Given the description of an element on the screen output the (x, y) to click on. 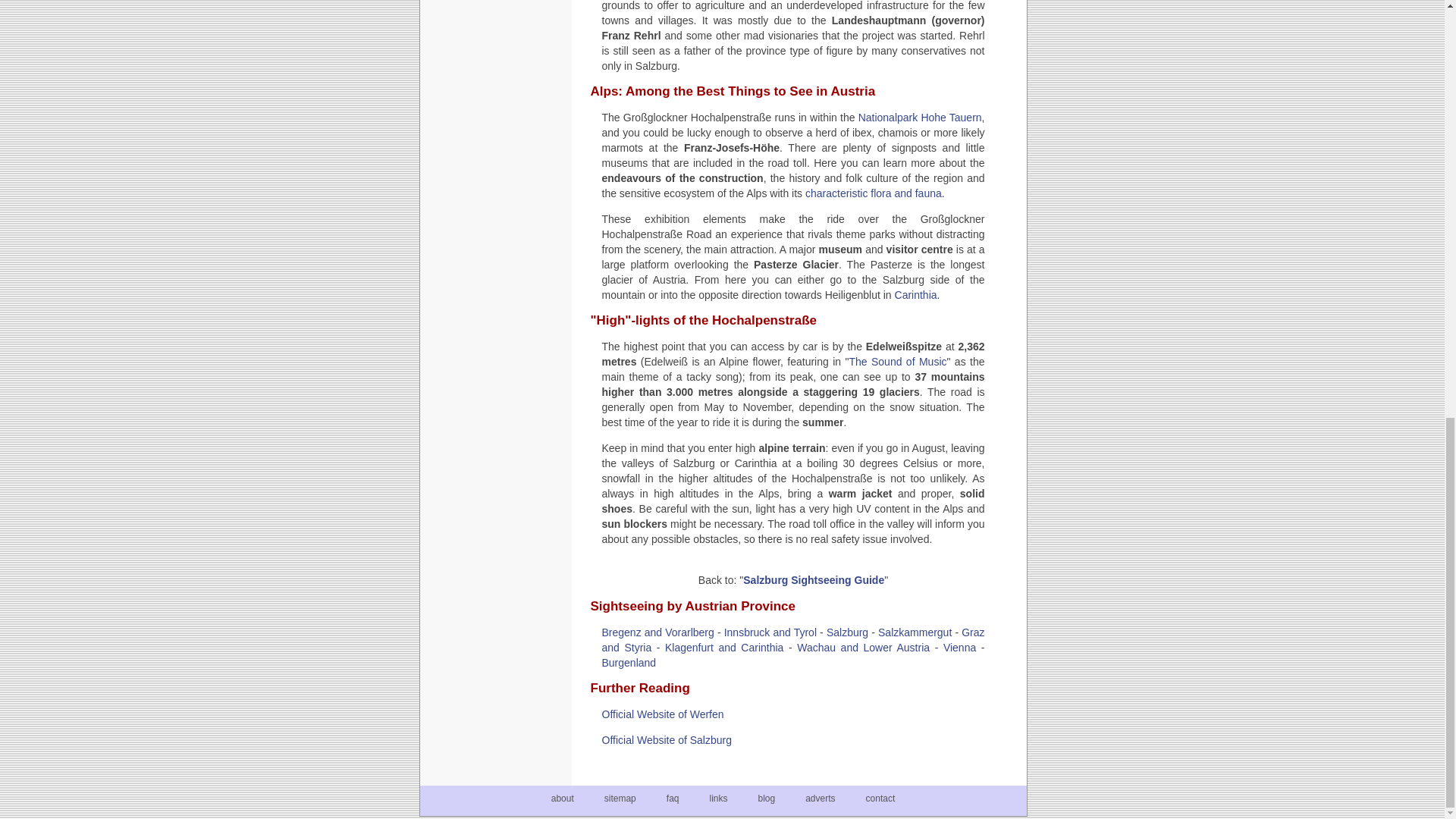
Innsbruck and Tyrol (769, 632)
Salzburg Sightseeing Guide (812, 580)
Salzburg (847, 632)
Nationalpark Hohe Tauern (920, 117)
Carinthia (916, 295)
The Sound of Music (897, 361)
Klagenfurt and Carinthia (724, 647)
Vienna (959, 647)
Bregenz and Vorarlberg (658, 632)
Burgenland (629, 662)
